Given the description of an element on the screen output the (x, y) to click on. 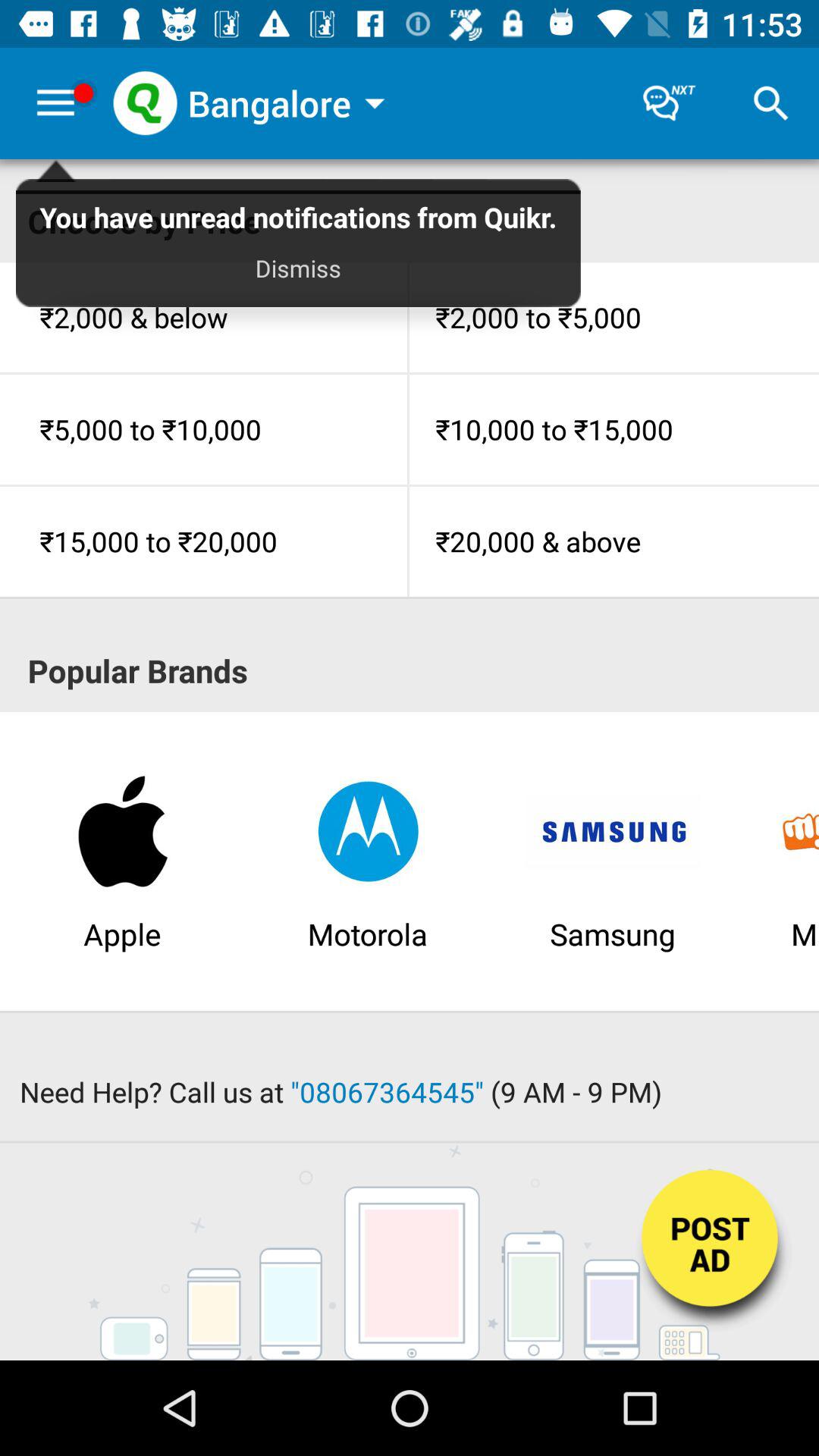
post advertisement (711, 1252)
